Given the description of an element on the screen output the (x, y) to click on. 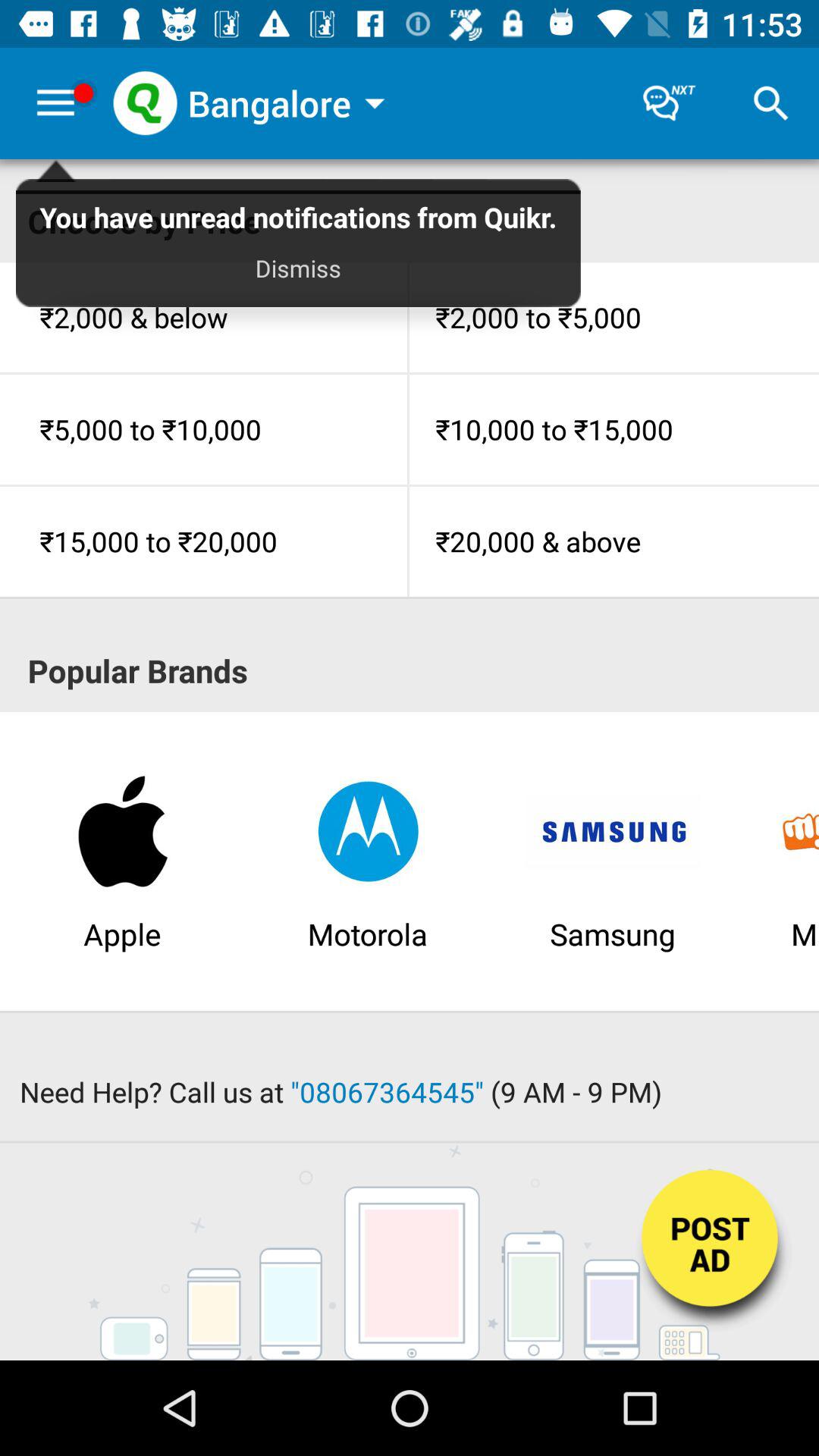
post advertisement (711, 1252)
